Given the description of an element on the screen output the (x, y) to click on. 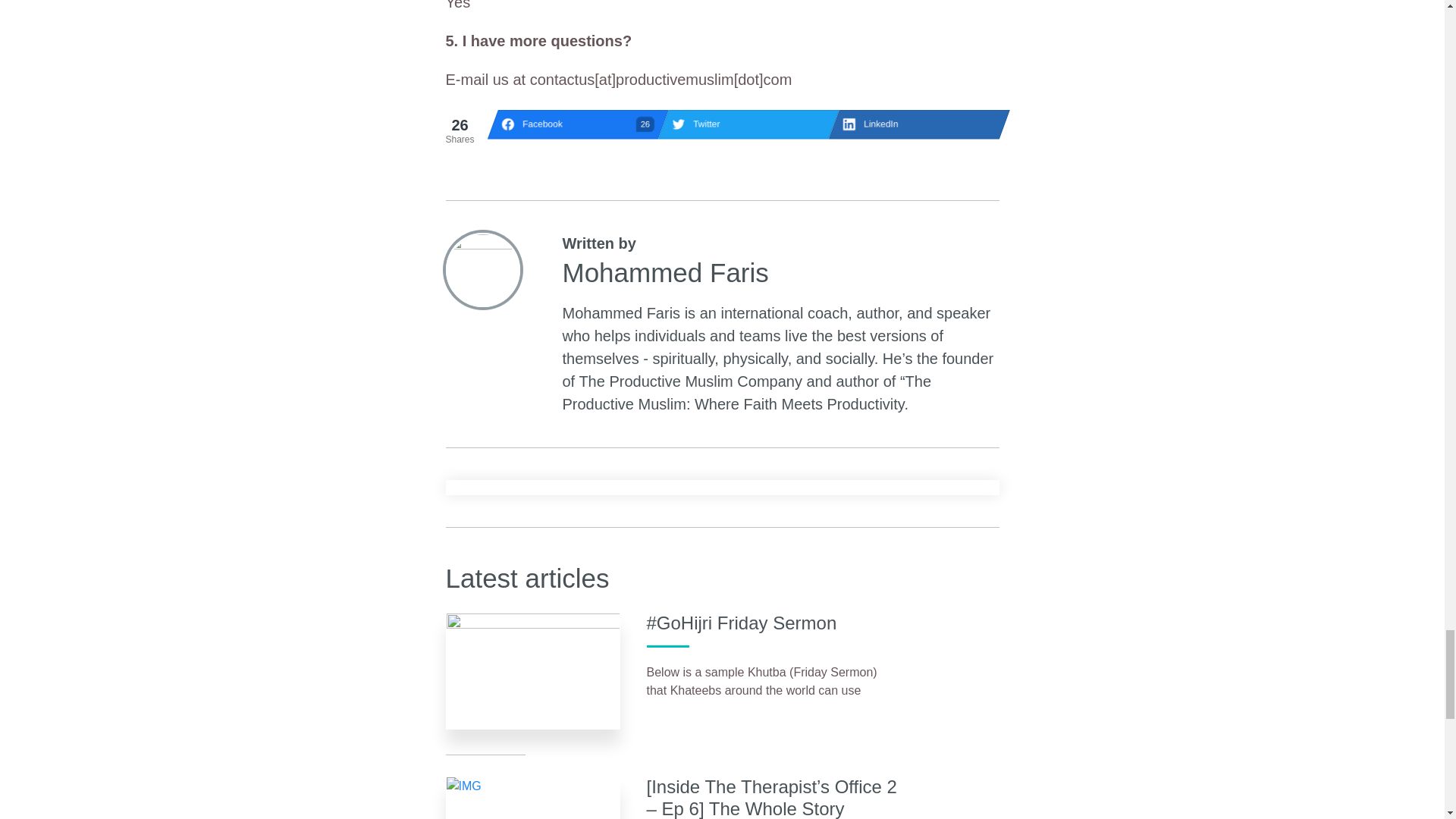
LinkedIn (913, 123)
Twitter (572, 123)
